Given the description of an element on the screen output the (x, y) to click on. 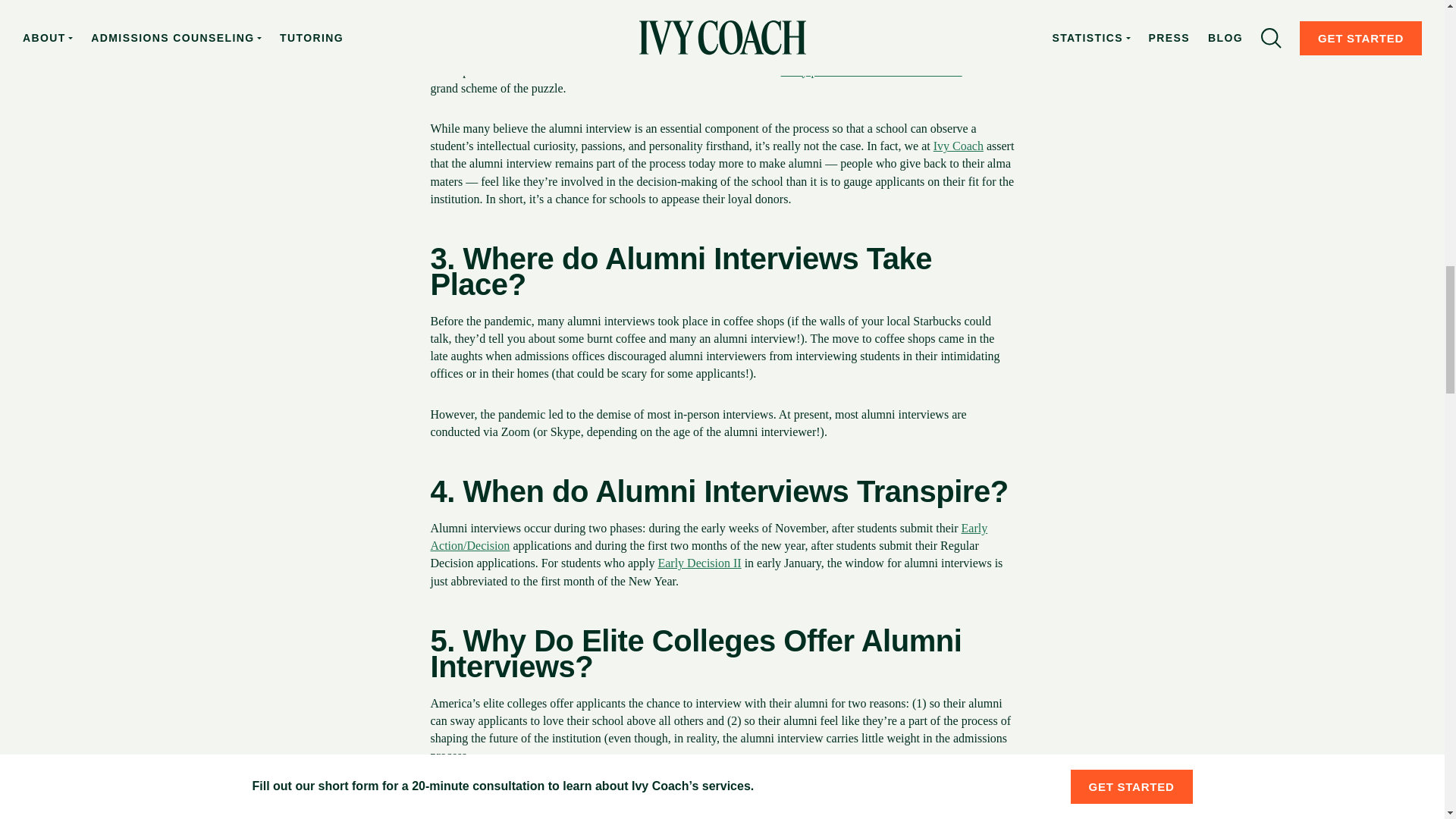
Early Decision II (699, 562)
Ivy Coach (958, 145)
a tiny piece that borders on irrelevant (871, 70)
